Given the description of an element on the screen output the (x, y) to click on. 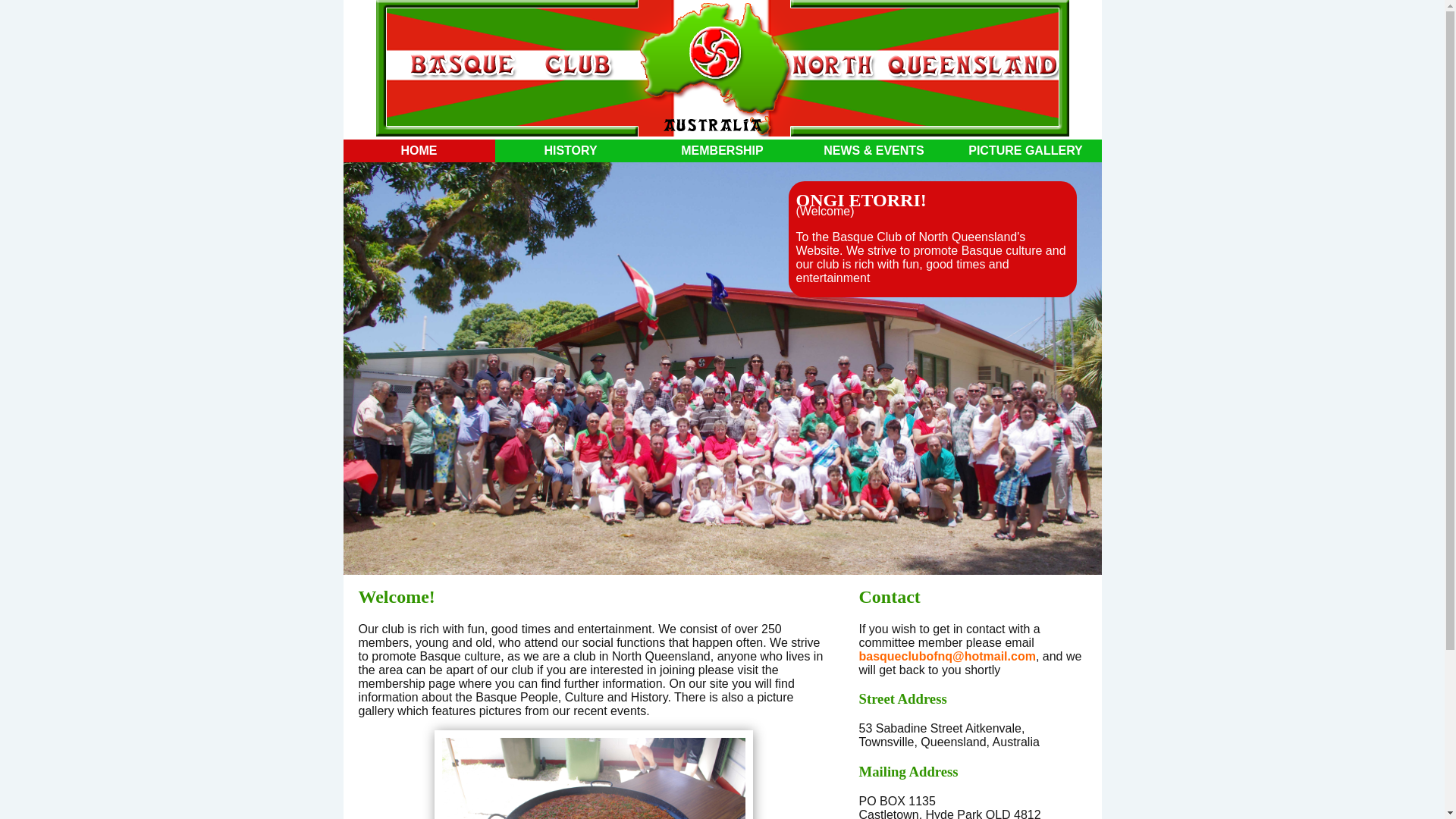
NEWS & EVENTS Element type: text (873, 150)
basqueclubofnq@hotmail.com Element type: text (946, 655)
PICTURE GALLERY Element type: text (1025, 150)
MEMBERSHIP Element type: text (721, 150)
HOME Element type: text (418, 150)
HISTORY Element type: text (570, 150)
